Given the description of an element on the screen output the (x, y) to click on. 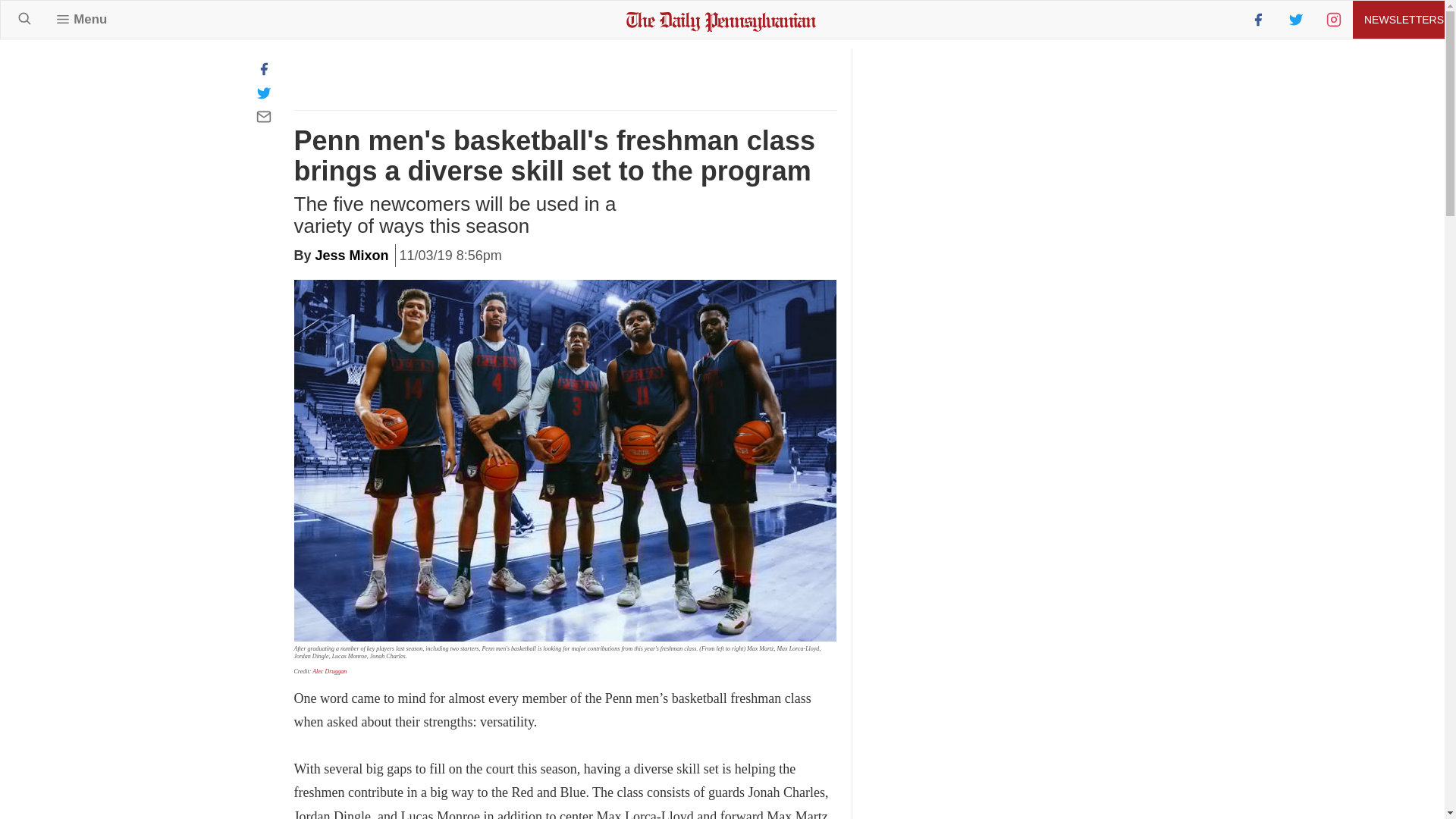
Menu (81, 18)
